Given the description of an element on the screen output the (x, y) to click on. 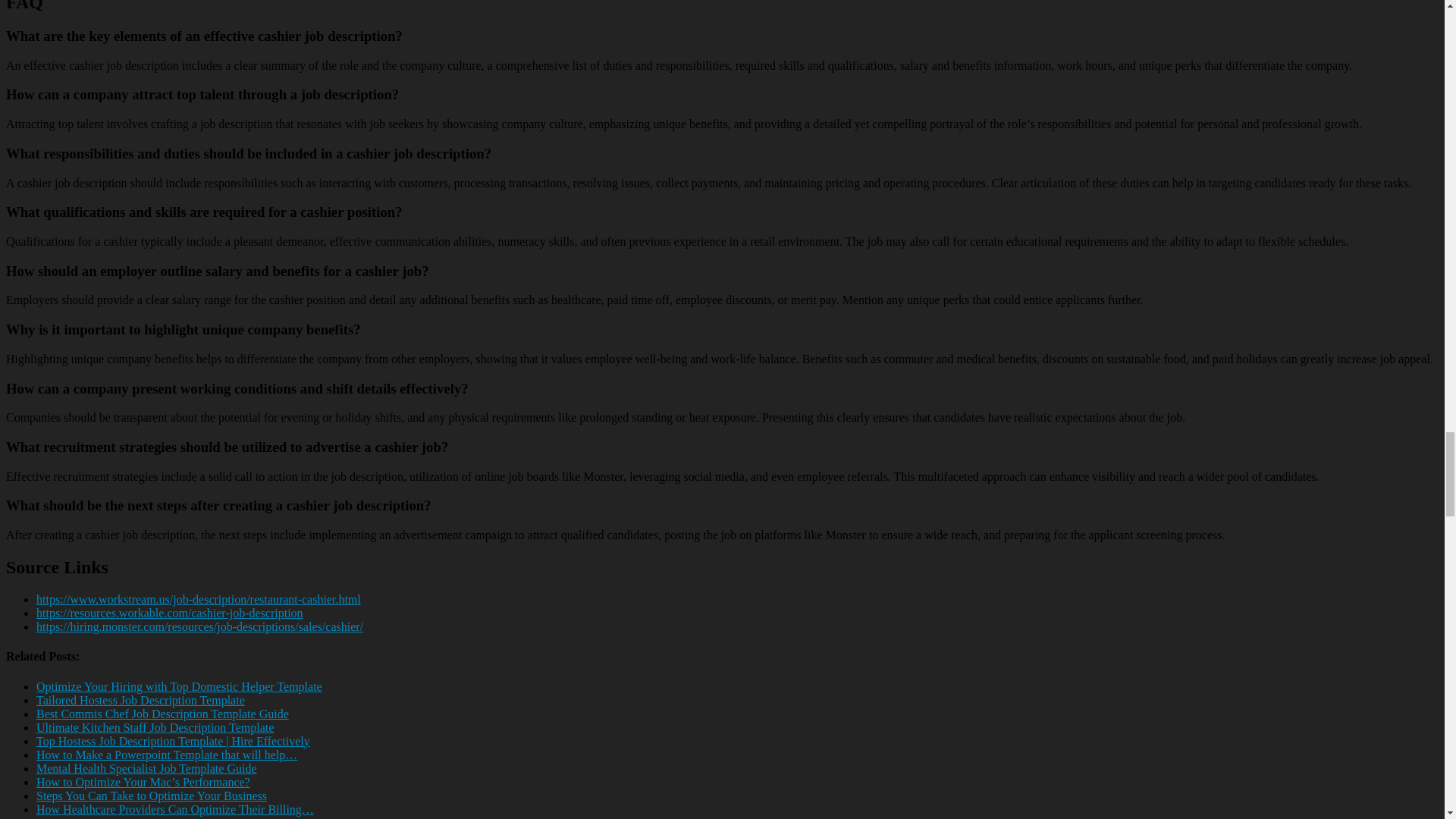
Optimize Your Hiring with Top Domestic Helper Template (178, 686)
Ultimate Kitchen Staff Job Description Template (154, 727)
Best Commis Chef Job Description Template Guide (162, 713)
Tailored Hostess Job Description Template (140, 699)
